Given the description of an element on the screen output the (x, y) to click on. 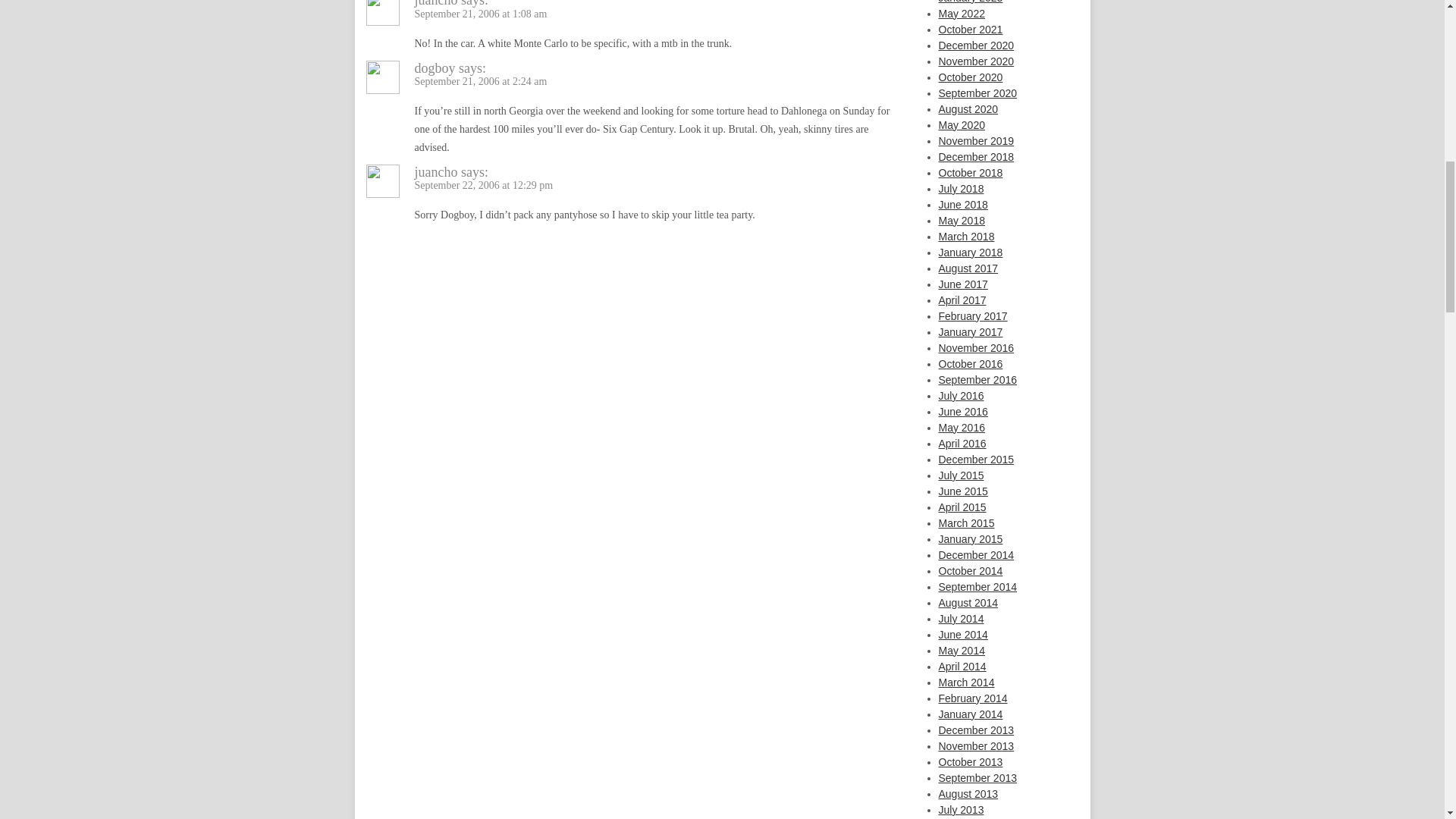
juancho (435, 3)
September 21, 2006 at 1:08 am (480, 13)
September 21, 2006 at 2:24 am (480, 81)
juancho (435, 171)
September 22, 2006 at 12:29 pm (483, 184)
